Given the description of an element on the screen output the (x, y) to click on. 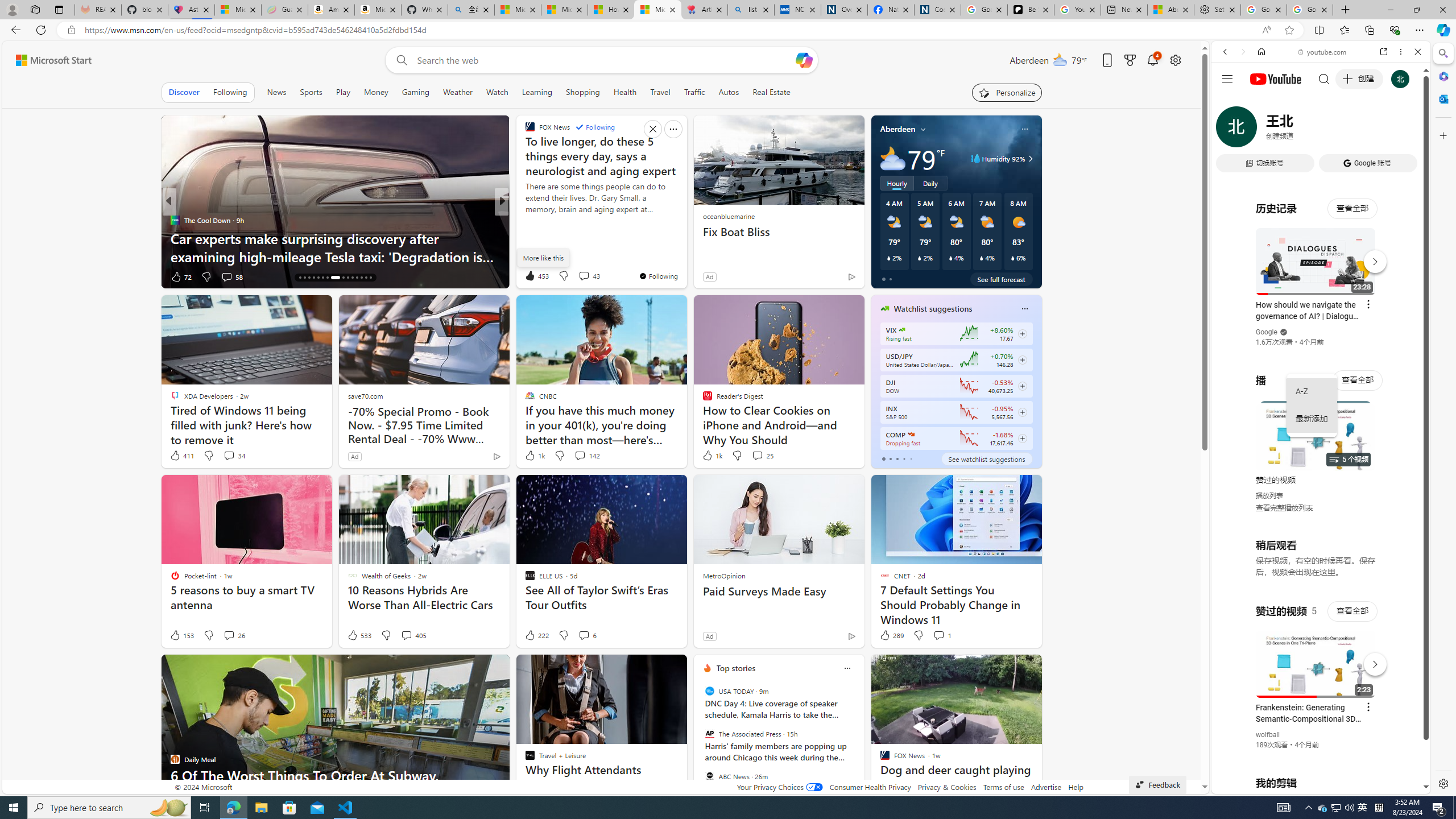
Mostly cloudy (892, 158)
See watchlist suggestions (986, 459)
AutomationID: tab-29 (366, 277)
View comments 405 Comment (406, 635)
Show More Music (1390, 310)
20 Like (530, 276)
